Given the description of an element on the screen output the (x, y) to click on. 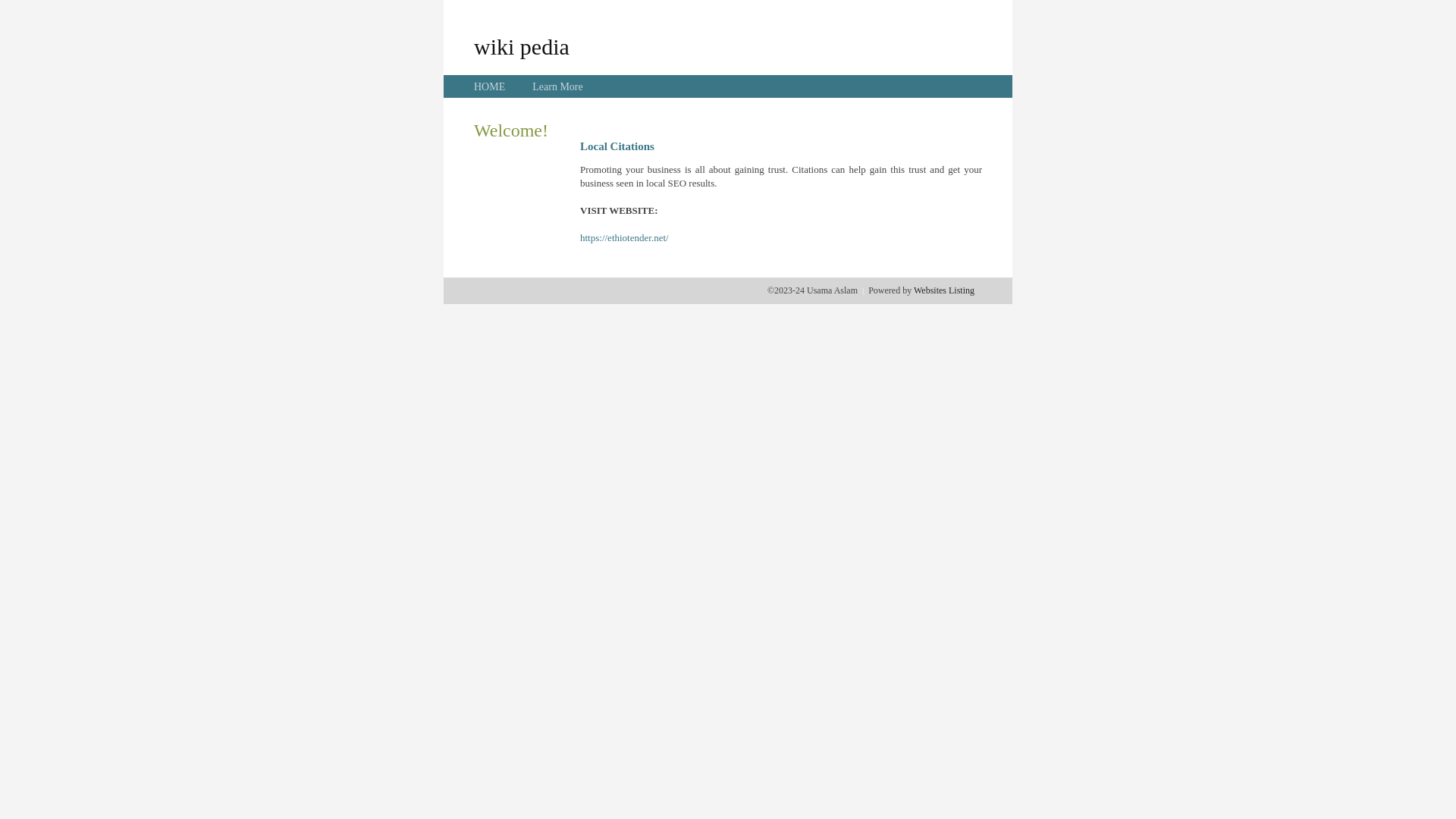
https://ethiotender.net/ Element type: text (624, 237)
Websites Listing Element type: text (943, 290)
HOME Element type: text (489, 86)
Learn More Element type: text (557, 86)
wiki pedia Element type: text (521, 46)
